Given the description of an element on the screen output the (x, y) to click on. 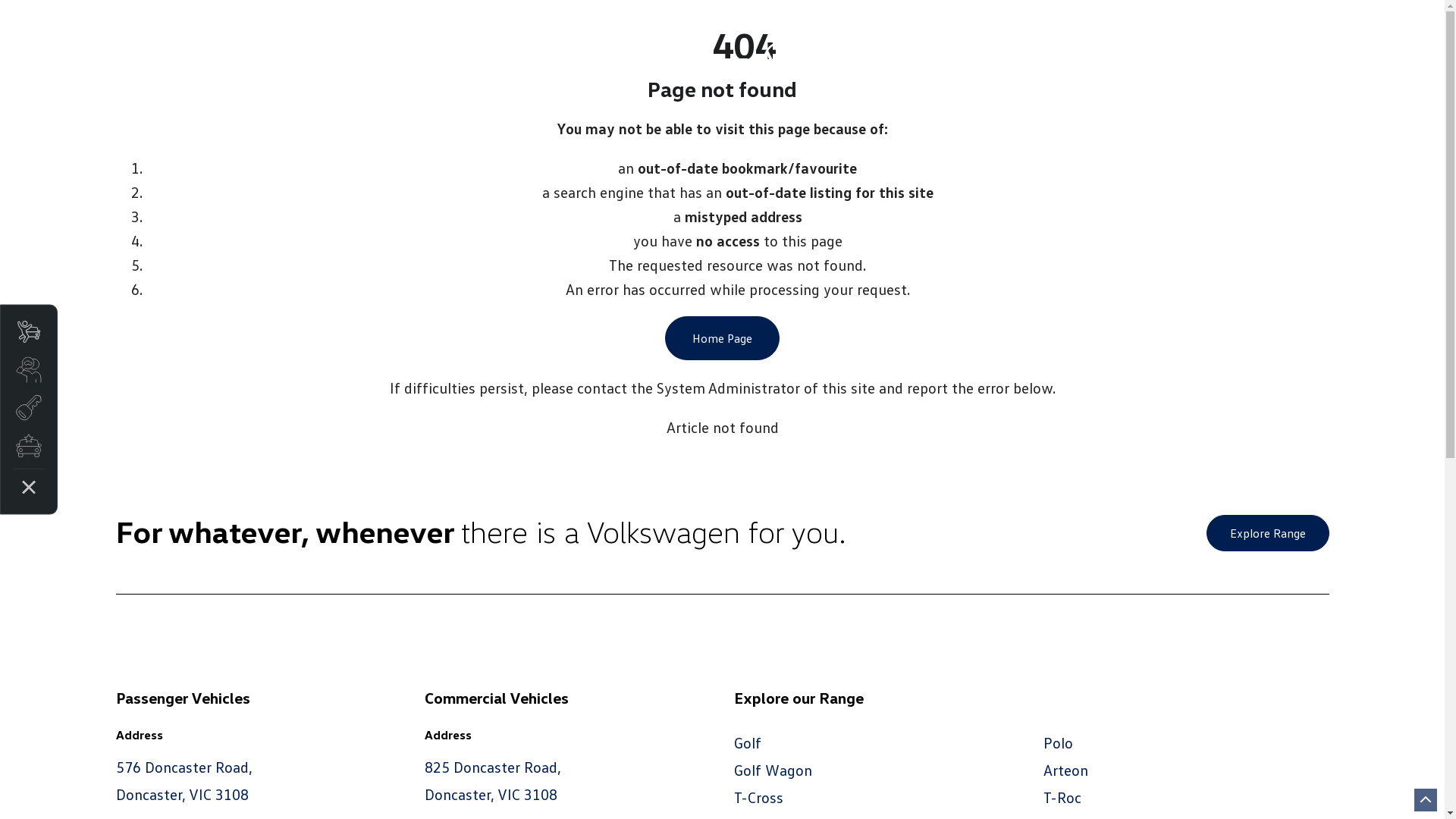
Doncaster Volkswagen Element type: text (866, 58)
T-Cross Element type: text (758, 796)
Service: 03 8832 7888 Element type: text (362, 29)
Polo Element type: text (1058, 742)
Arteon Element type: text (1065, 769)
Home Page Element type: text (722, 338)
Golf Element type: text (747, 742)
Sales: 03 8832 7888 Element type: text (189, 29)
Explore Range Element type: text (1266, 532)
T-Roc Element type: text (1062, 796)
Golf Wagon Element type: text (773, 769)
